Given the description of an element on the screen output the (x, y) to click on. 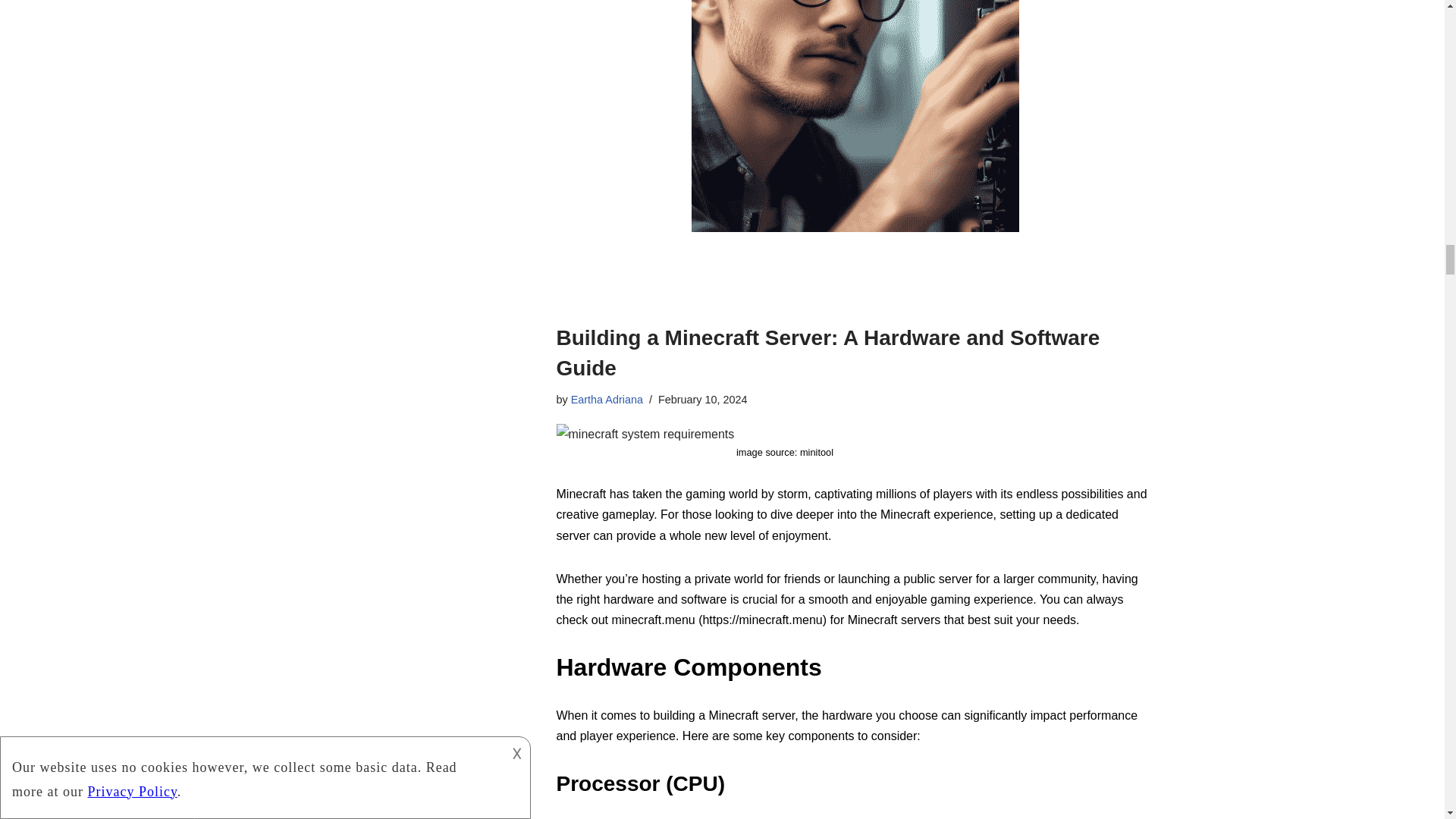
Posts by Eartha Adriana (606, 399)
